Given the description of an element on the screen output the (x, y) to click on. 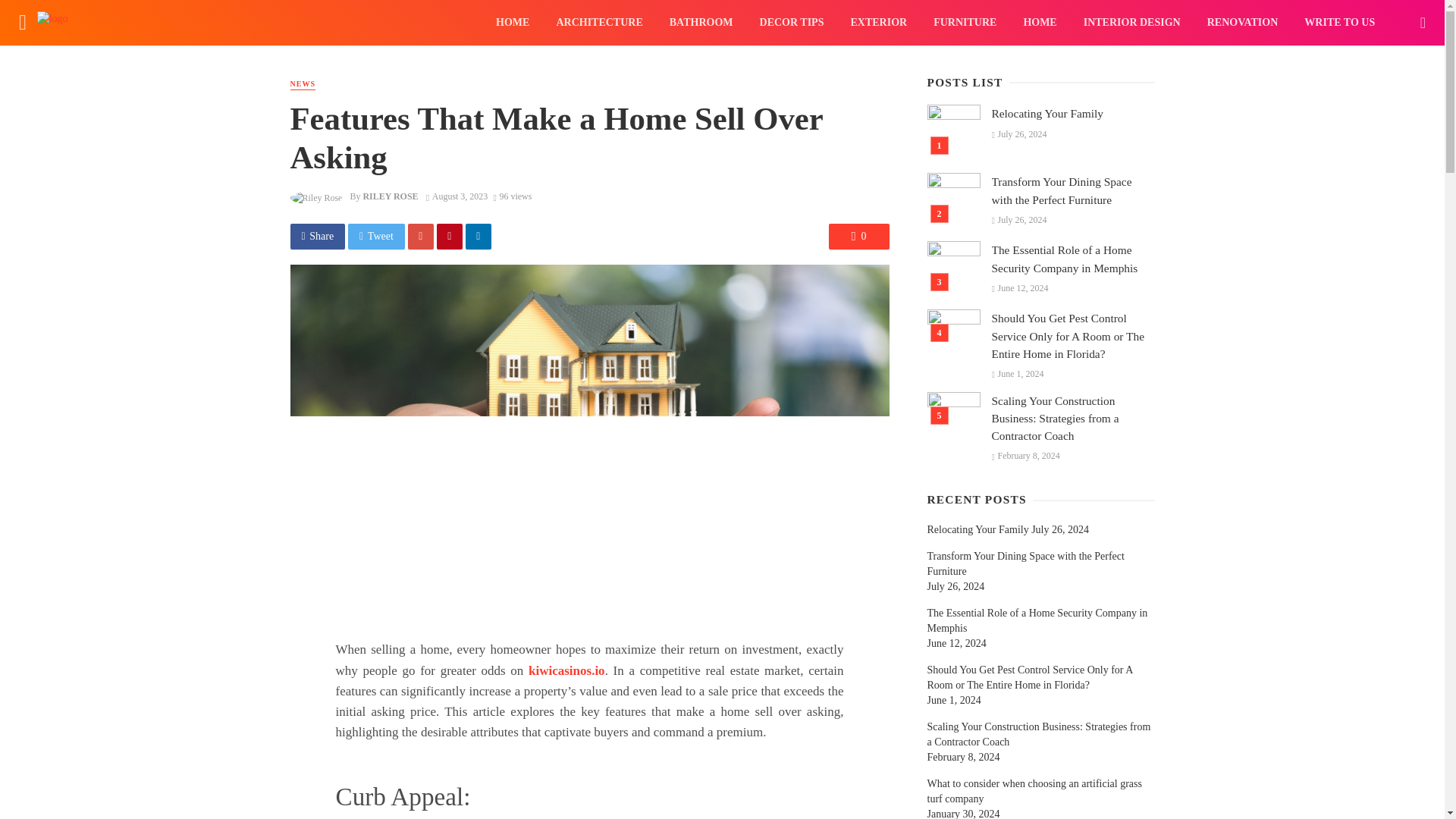
HOME (1040, 22)
FURNITURE (965, 22)
NEWS (301, 84)
INTERIOR DESIGN (1131, 22)
Share on Twitter (375, 236)
0 (858, 236)
BATHROOM (700, 22)
Posts by Riley Rose (389, 195)
Share on Linkedin (478, 236)
0 Comments (858, 236)
